Given the description of an element on the screen output the (x, y) to click on. 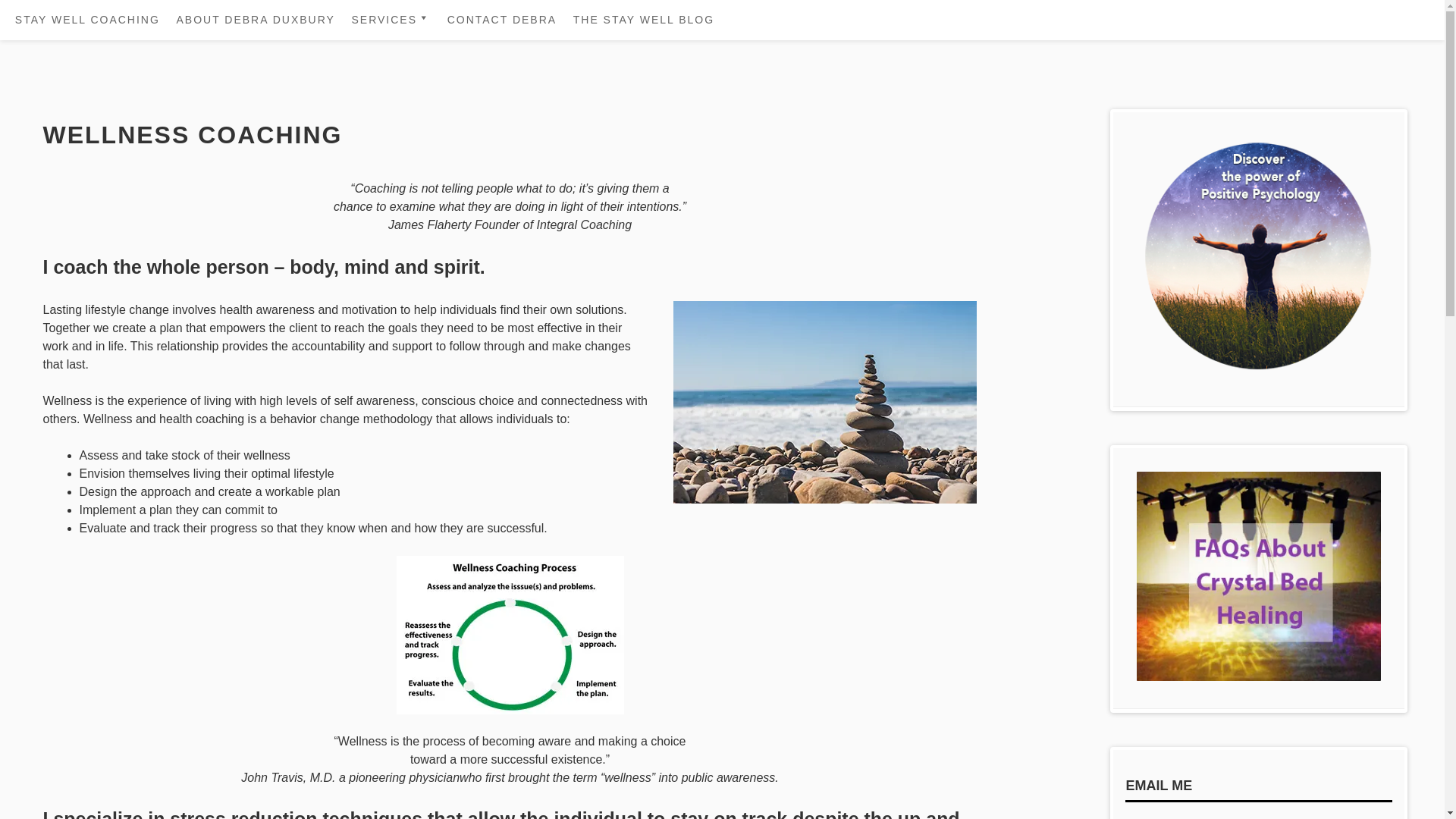
THE STAY WELL BLOG (643, 19)
STAY WELL COACHING (86, 19)
ABOUT DEBRA DUXBURY (255, 19)
SERVICES (390, 19)
POSITIVE PSYCHOLOGY COACHING AND WORKSHOPS (431, 190)
CONTACT DEBRA (502, 19)
CRYSTAL BED THERAPY (431, 148)
BIOFIELD TUNING (431, 52)
WELLNESS COACHING (431, 79)
ENERGY MEDICINE HEALING (431, 113)
